Given the description of an element on the screen output the (x, y) to click on. 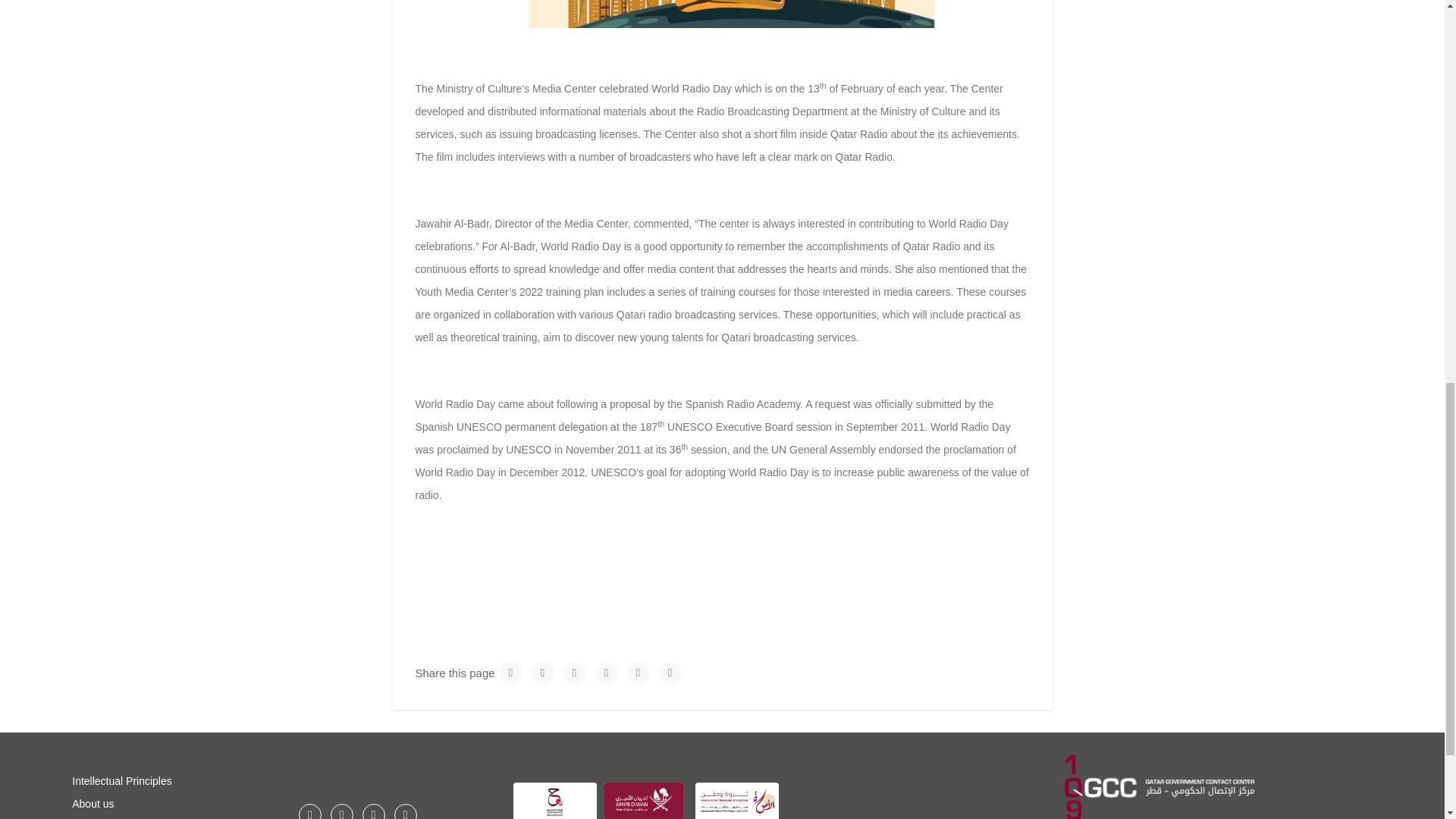
Share Google Plus (574, 672)
Share Facebook (542, 672)
Share Linked In (606, 672)
Share Twitter (510, 672)
